Given the description of an element on the screen output the (x, y) to click on. 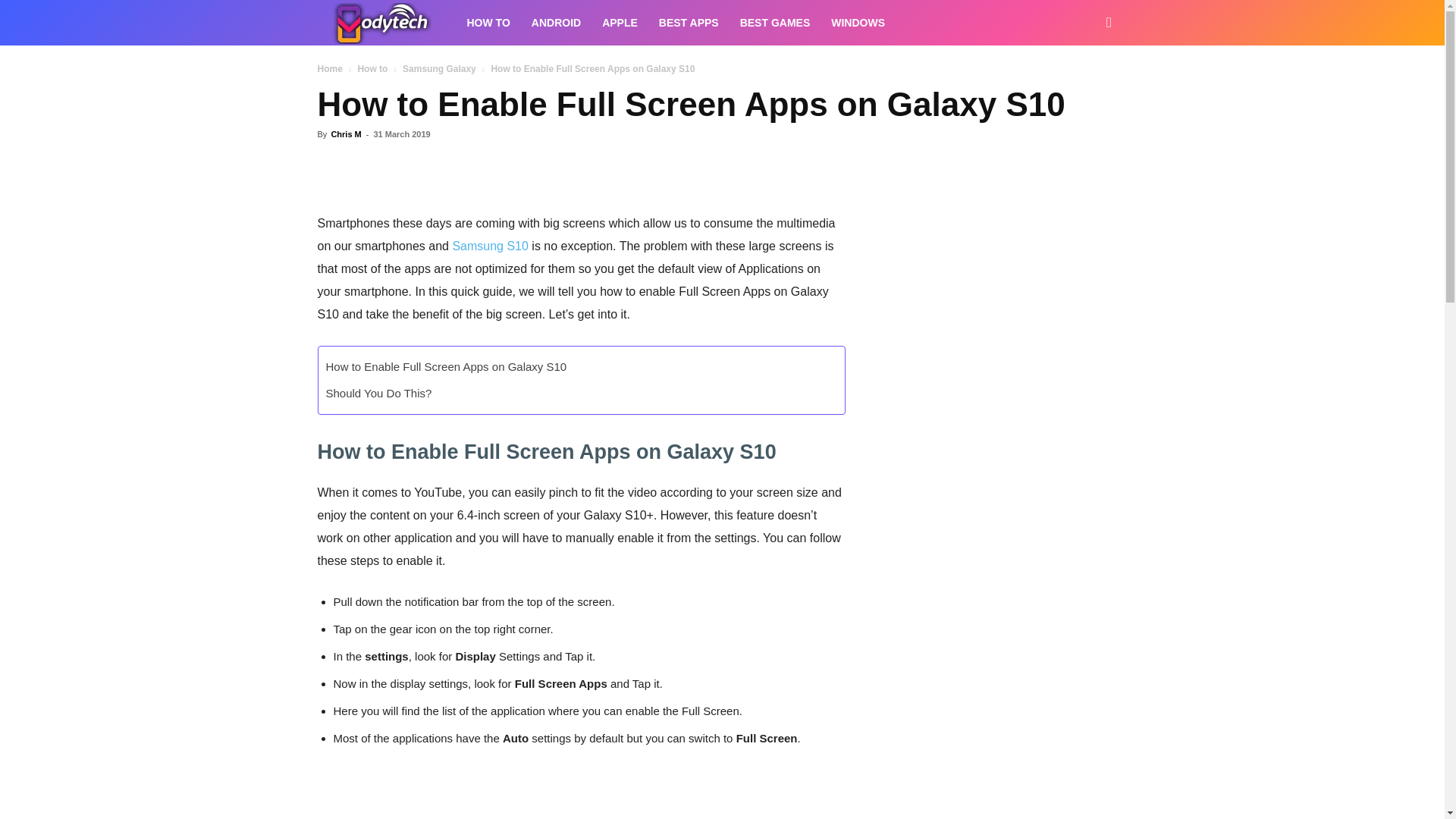
Should You Do This? (379, 393)
Search (1085, 87)
How to Enable Full Screen Apps on Galaxy S10 (446, 366)
WINDOWS (858, 22)
Samsung Galaxy (439, 68)
APPLE (619, 22)
How to (371, 68)
HOW TO (489, 22)
Samsung S10 (489, 245)
VodyTech (386, 22)
